Given the description of an element on the screen output the (x, y) to click on. 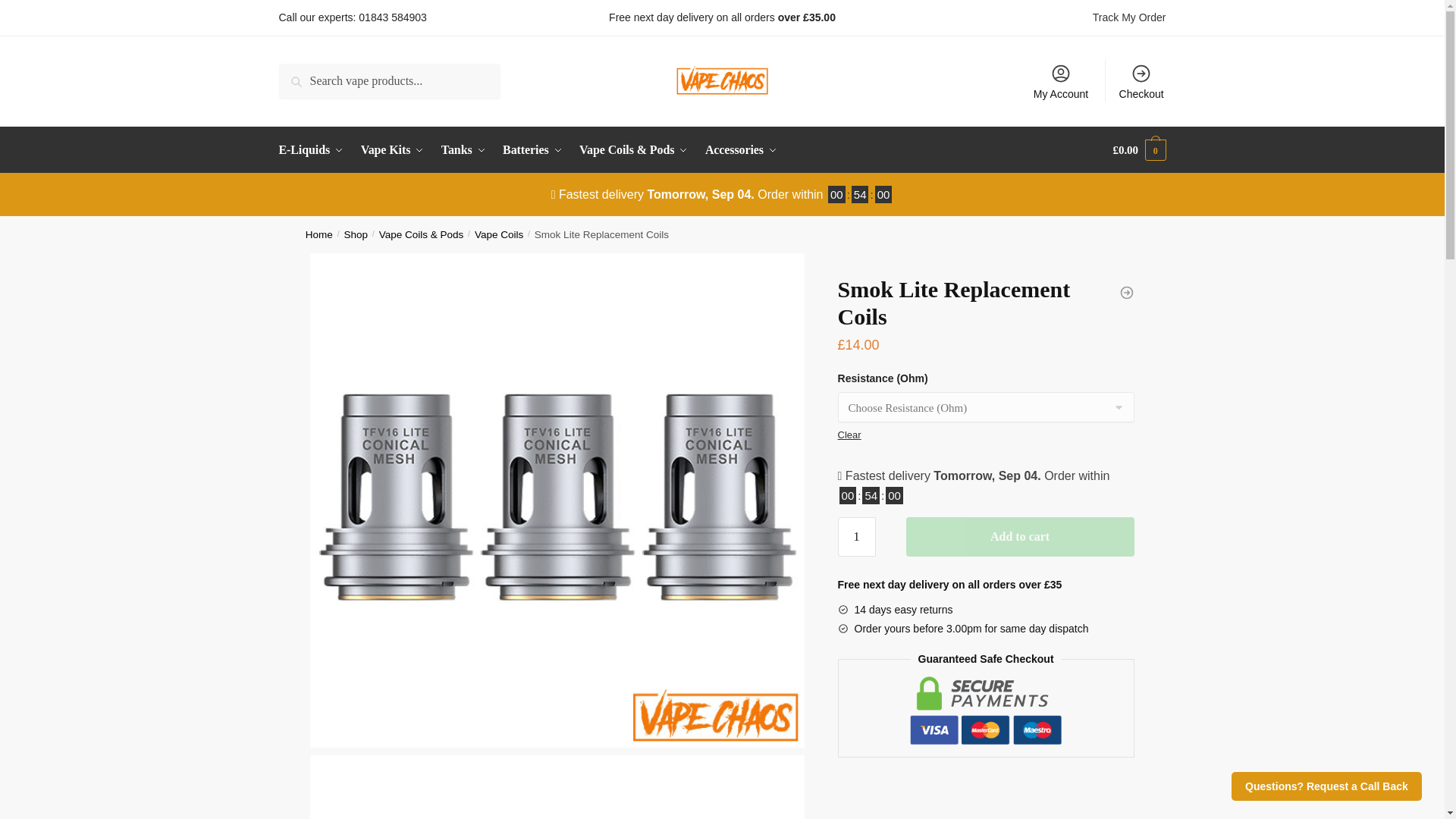
1 (857, 536)
View your shopping cart (1139, 149)
Batteries (532, 149)
Track My Order (1129, 17)
Accessories (741, 149)
Search (300, 74)
Tanks (462, 149)
Checkout (1141, 80)
Vape Kits (391, 149)
